Given the description of an element on the screen output the (x, y) to click on. 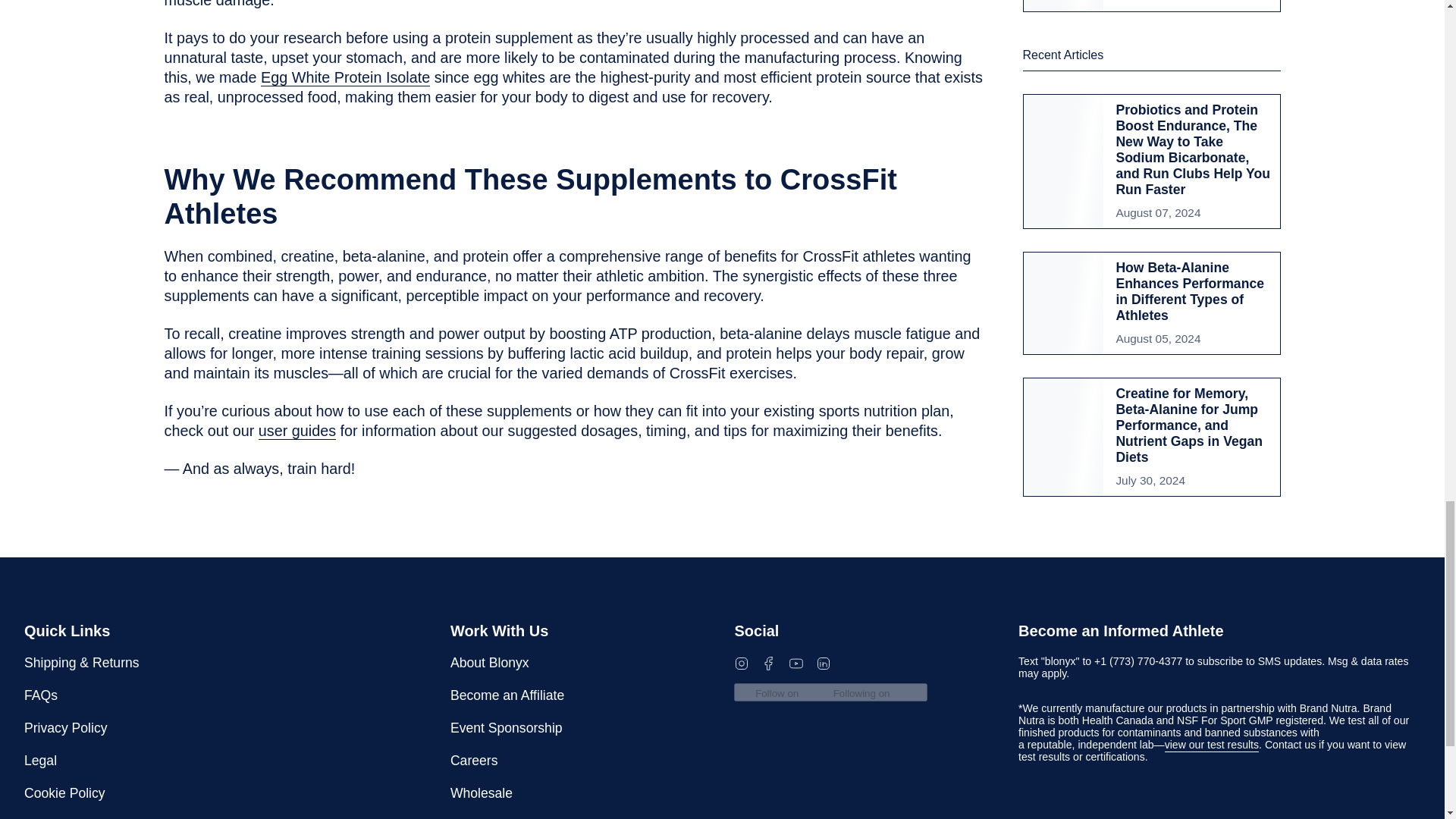
Blonyx on Facebook (768, 662)
Blonyx on Instagram (741, 662)
Blonyx Egg White Protein Isolate (344, 78)
Blonyx product user guides (297, 432)
Blonyx on YouTube (796, 662)
Blonyx on Linkedin (823, 662)
Blonyx Product Testing - COAs (1211, 746)
